Given the description of an element on the screen output the (x, y) to click on. 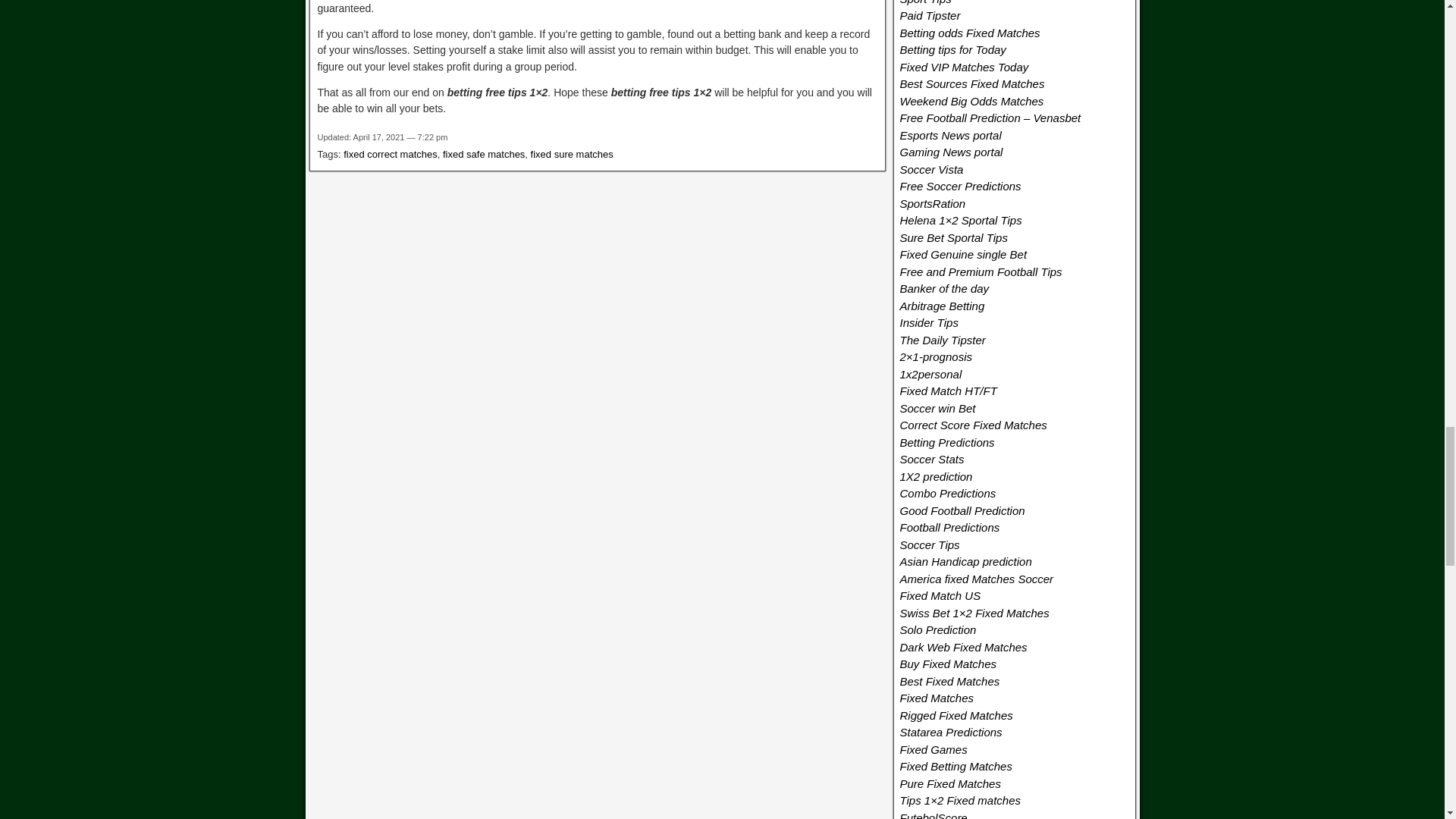
fixed safe matches (483, 153)
fixed correct matches (390, 153)
fixed sure matches (571, 153)
